Given the description of an element on the screen output the (x, y) to click on. 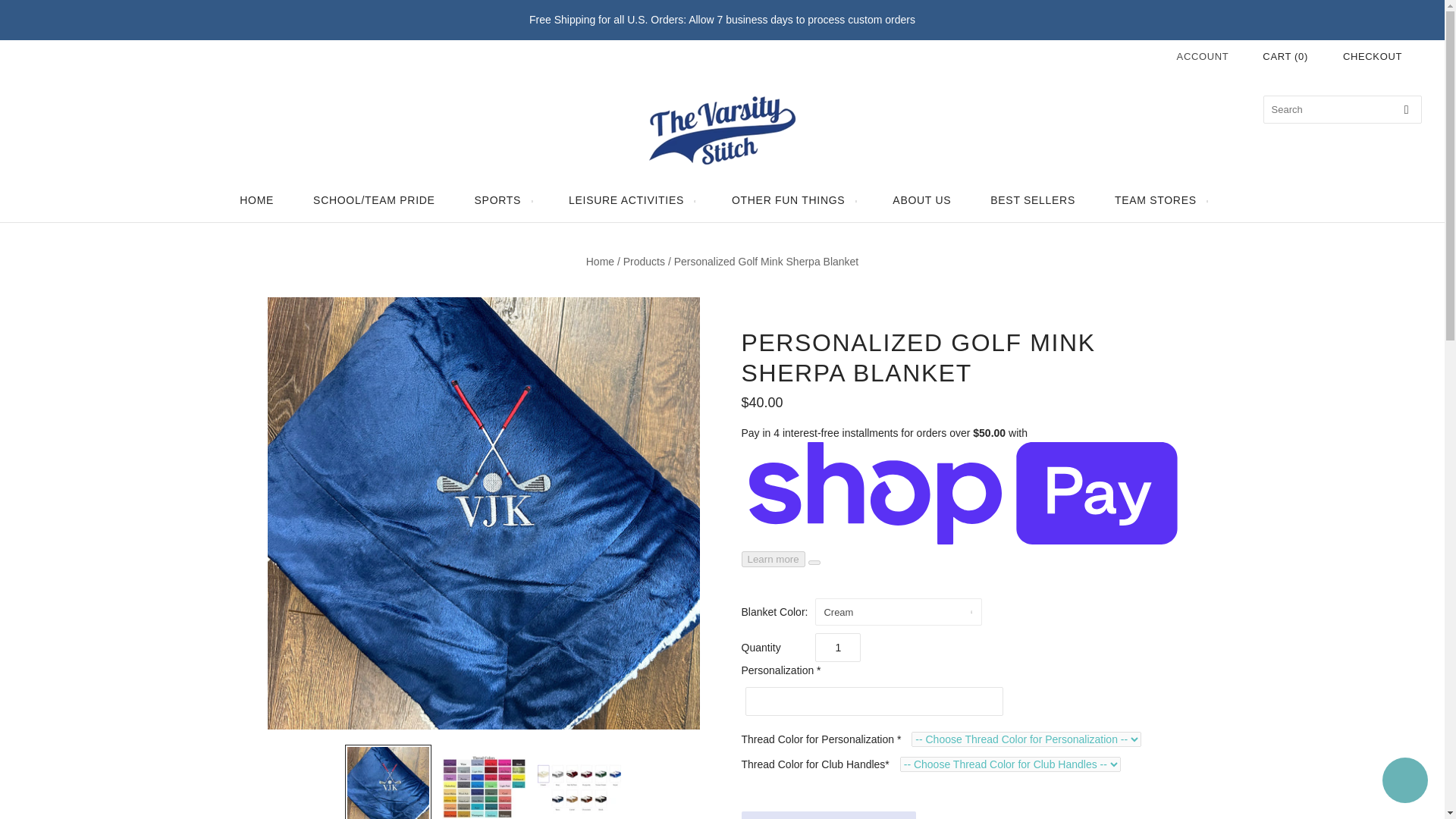
HOME (256, 200)
CHECKOUT (1372, 56)
Shopify online store chat (1404, 781)
ACCOUNT (1202, 56)
SPORTS (502, 200)
LEISURE ACTIVITIES (629, 200)
Add to cart (828, 815)
1 (837, 647)
